Given the description of an element on the screen output the (x, y) to click on. 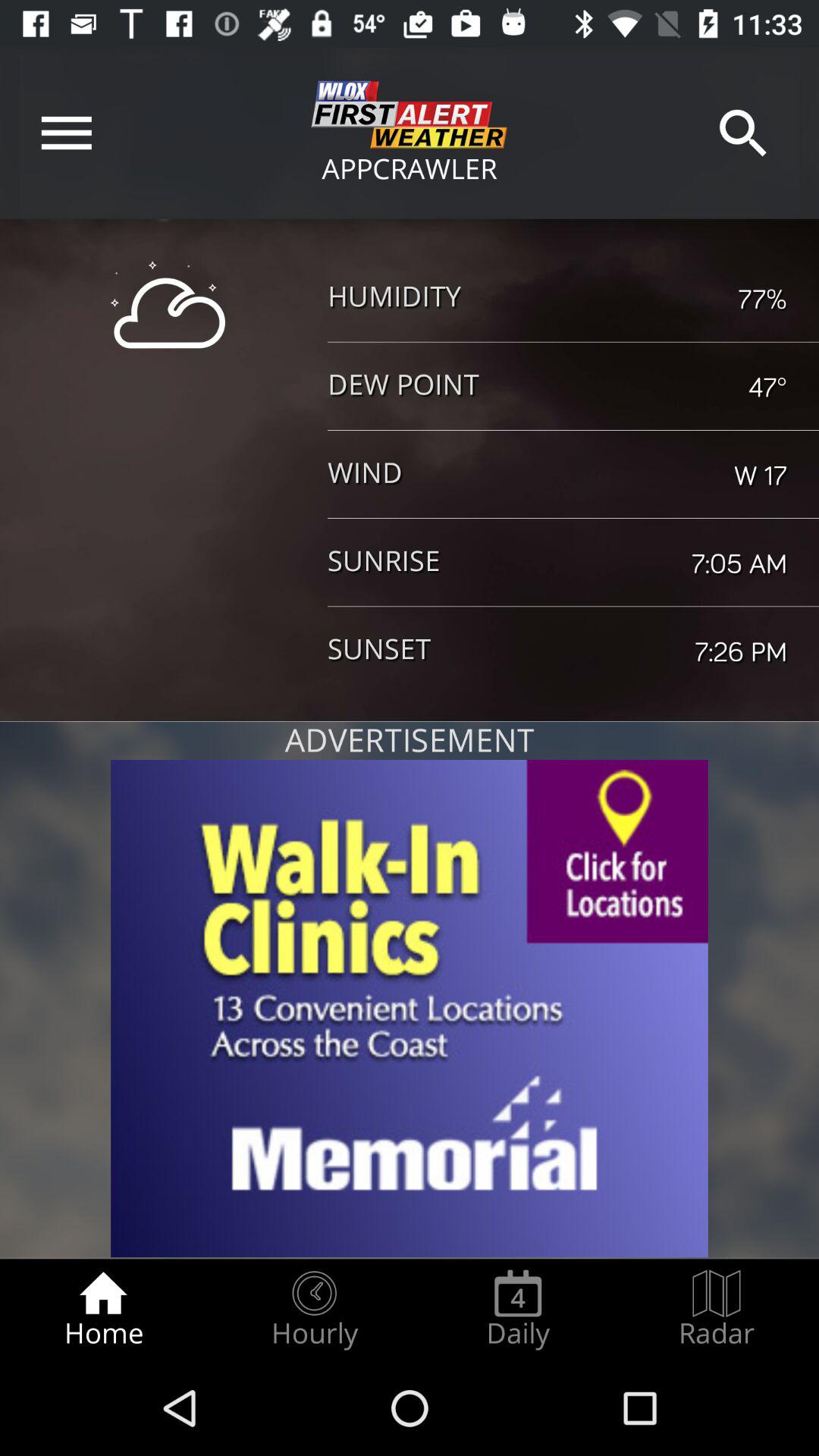
scroll to the hourly (314, 1309)
